Given the description of an element on the screen output the (x, y) to click on. 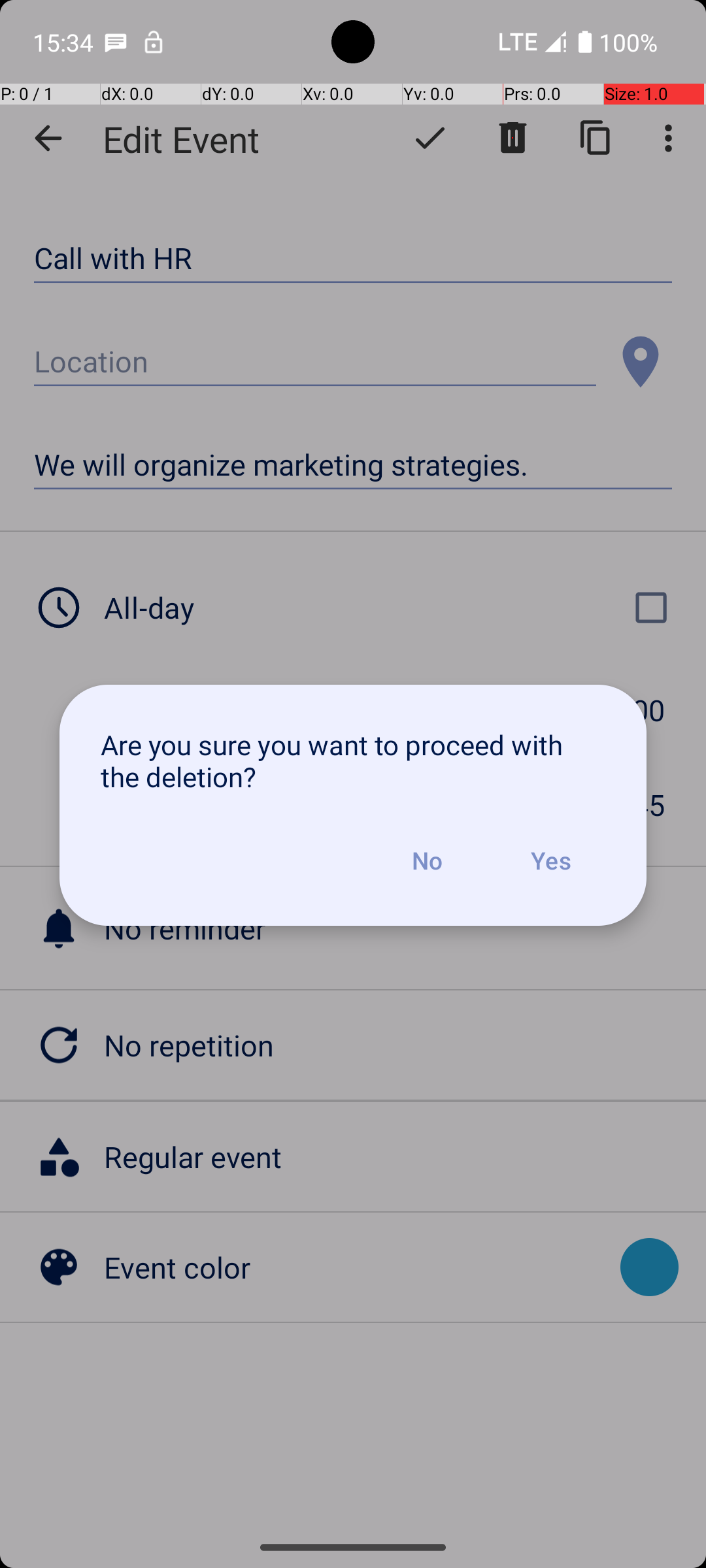
Are you sure you want to proceed with the deletion? Element type: android.widget.TextView (352, 760)
No Element type: android.widget.Button (426, 860)
Yes Element type: android.widget.Button (550, 860)
